Given the description of an element on the screen output the (x, y) to click on. 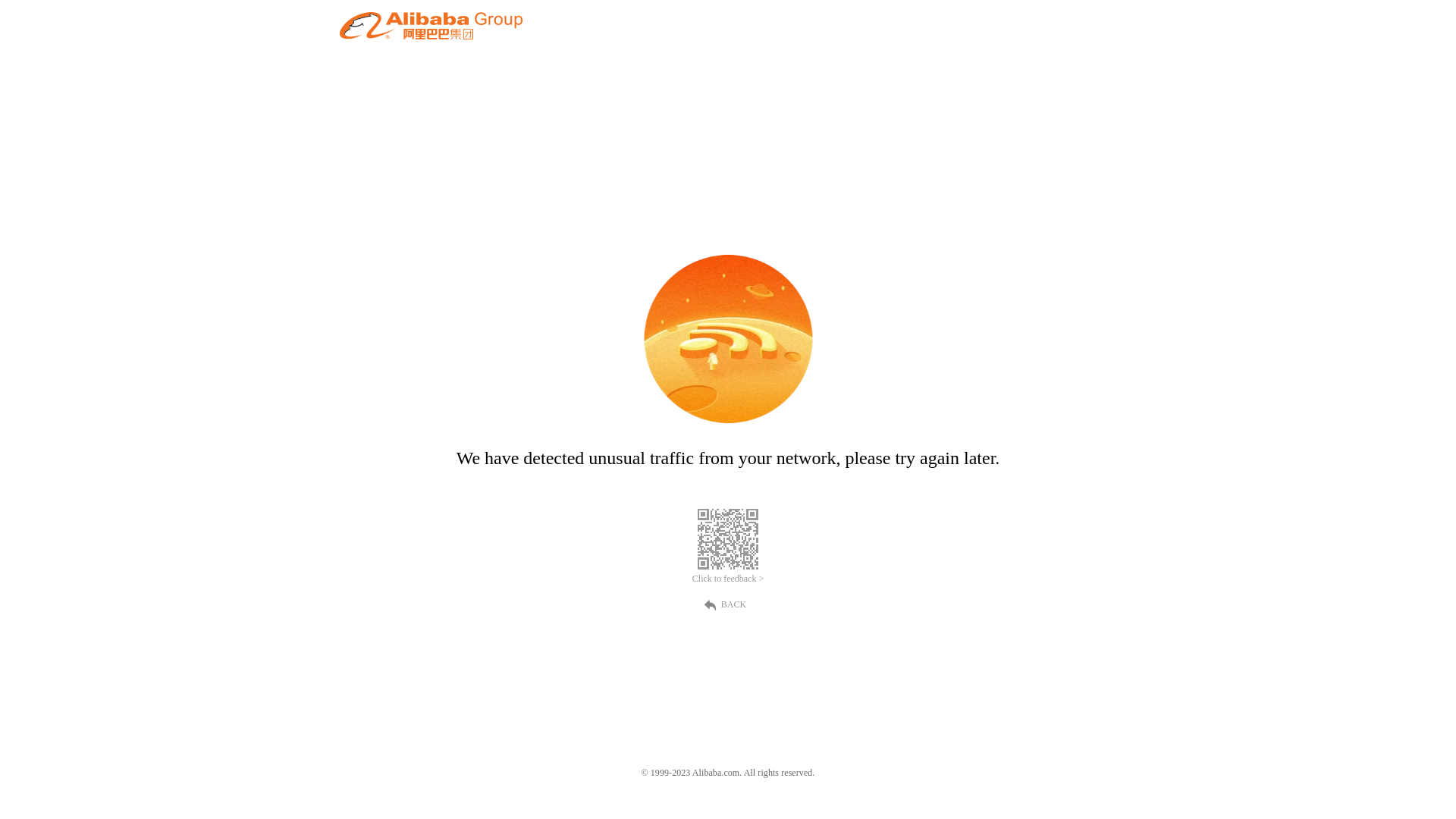
BACK Element type: text (727, 603)
Click to feedback > Element type: text (727, 578)
